Given the description of an element on the screen output the (x, y) to click on. 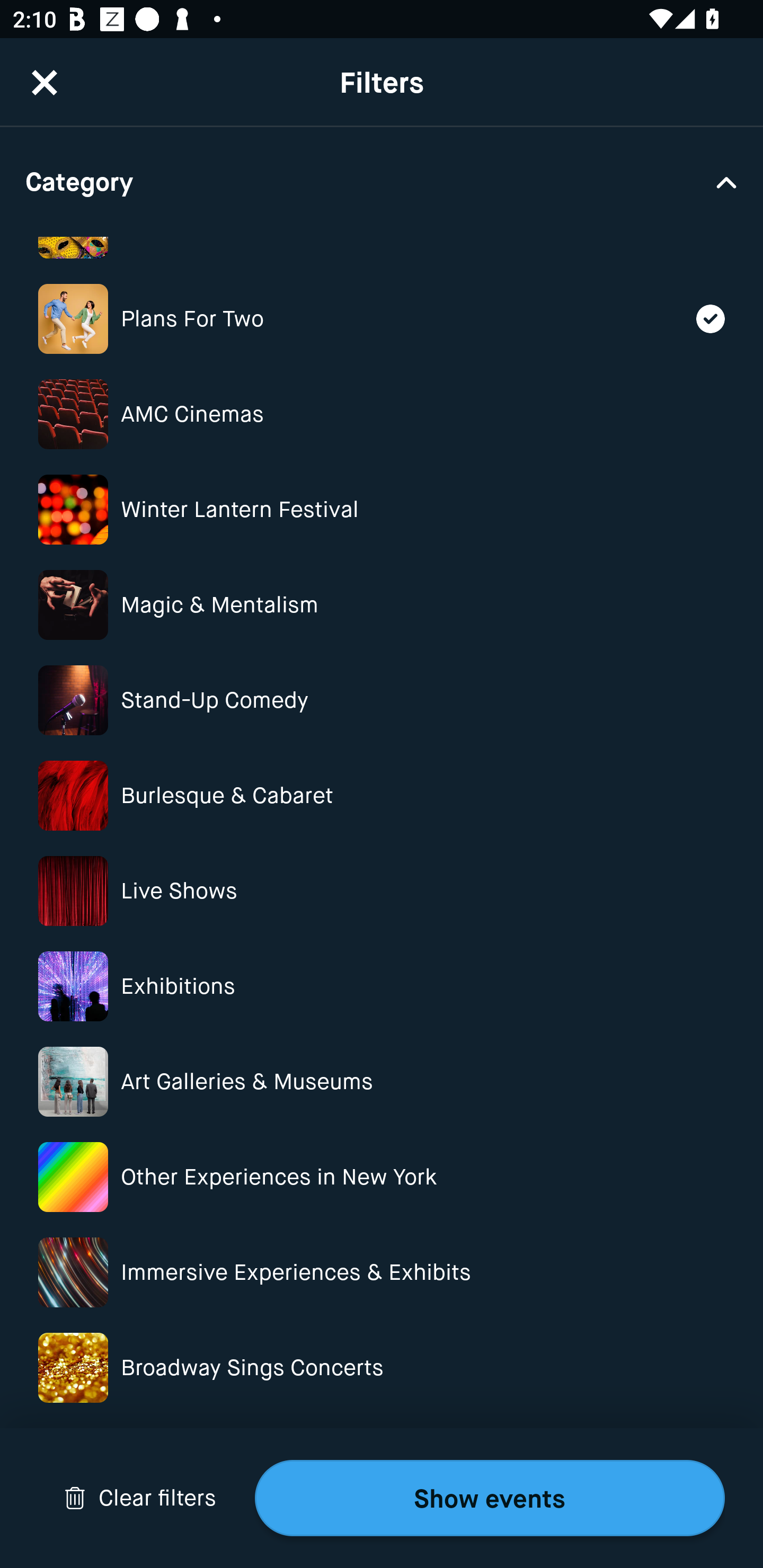
Category Drop Down Arrow (381, 181)
Category Image Plans For Two Selected Icon (381, 318)
Category Image AMC Cinemas (381, 414)
Category Image Winter Lantern Festival (381, 509)
Category Image Magic & Mentalism (381, 604)
Category Image Stand-Up Comedy (381, 699)
Category Image Burlesque & Cabaret (381, 795)
Category Image Live Shows (381, 890)
Category Image Exhibitions (381, 985)
Category Image Art Galleries & Museums (381, 1081)
Category Image Other Experiences in New York (381, 1176)
Category Image Immersive Experiences & Exhibits (381, 1272)
Category Image Broadway Sings Concerts (381, 1367)
Drop Down Arrow Clear filters (139, 1497)
Show events (489, 1497)
